Given the description of an element on the screen output the (x, y) to click on. 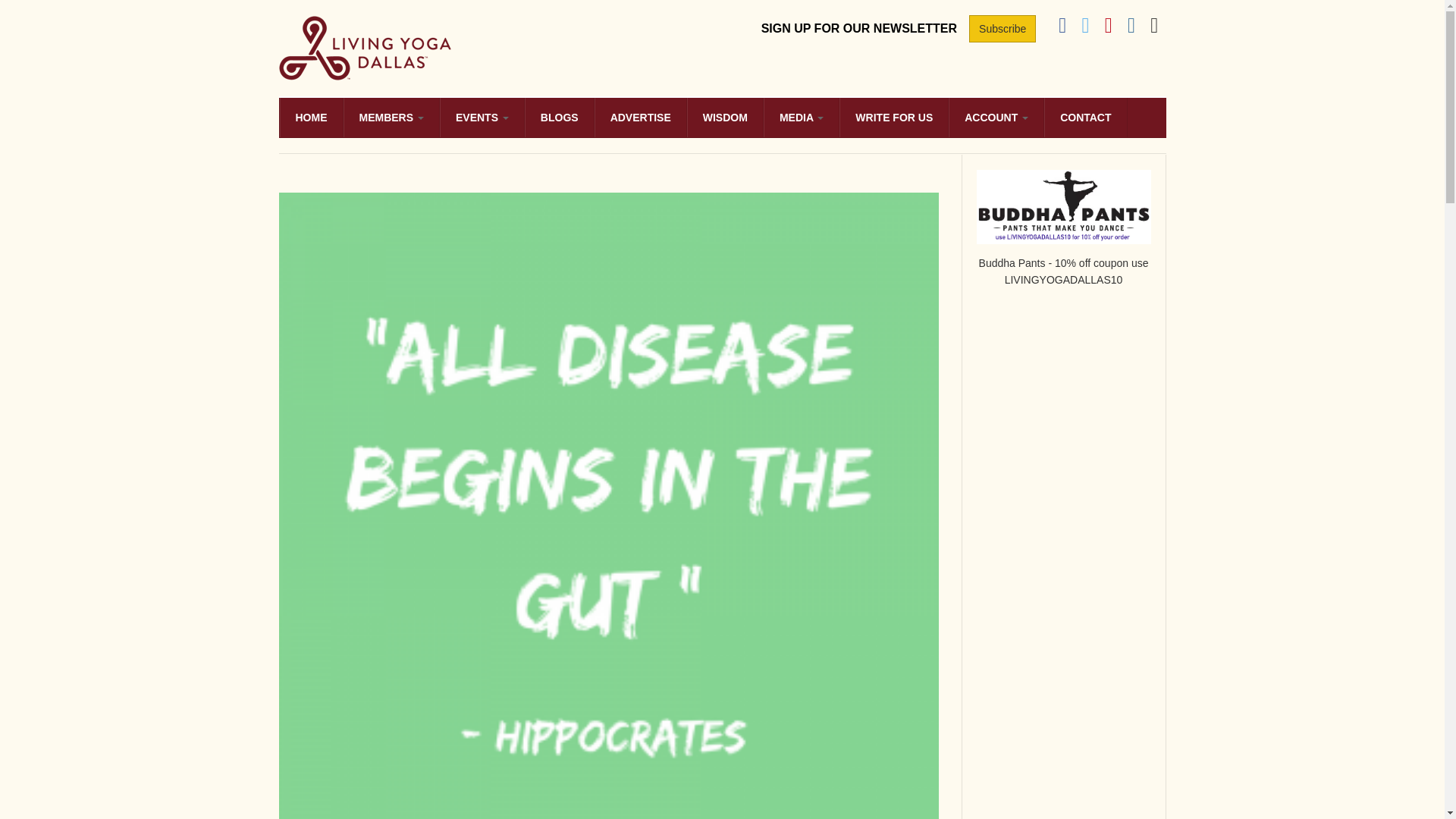
MEMBERS (390, 117)
Home (365, 45)
BLOGS (559, 117)
MEDIA (800, 117)
Subscribe (1002, 28)
WISDOM (724, 117)
EVENTS (481, 117)
ADVERTISE (639, 117)
HOME (310, 117)
